Given the description of an element on the screen output the (x, y) to click on. 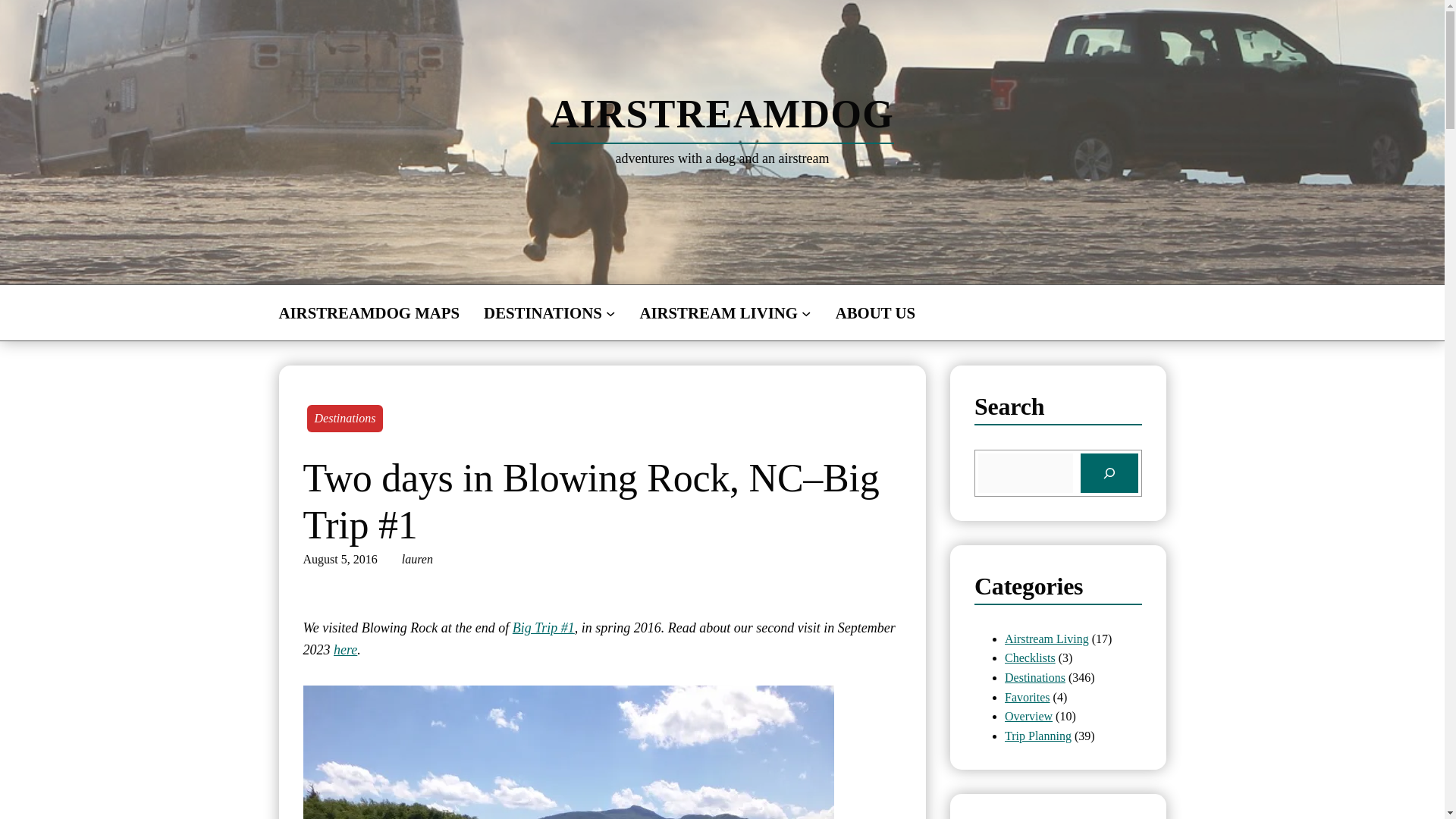
The Big Trip: Retrospective (543, 627)
AIRSTREAMDOG MAPS (369, 312)
DESTINATIONS (542, 312)
Destinations (343, 418)
AIRSTREAM LIVING (718, 312)
ABOUT US (875, 312)
AIRSTREAMDOG (722, 113)
here (344, 649)
